Given the description of an element on the screen output the (x, y) to click on. 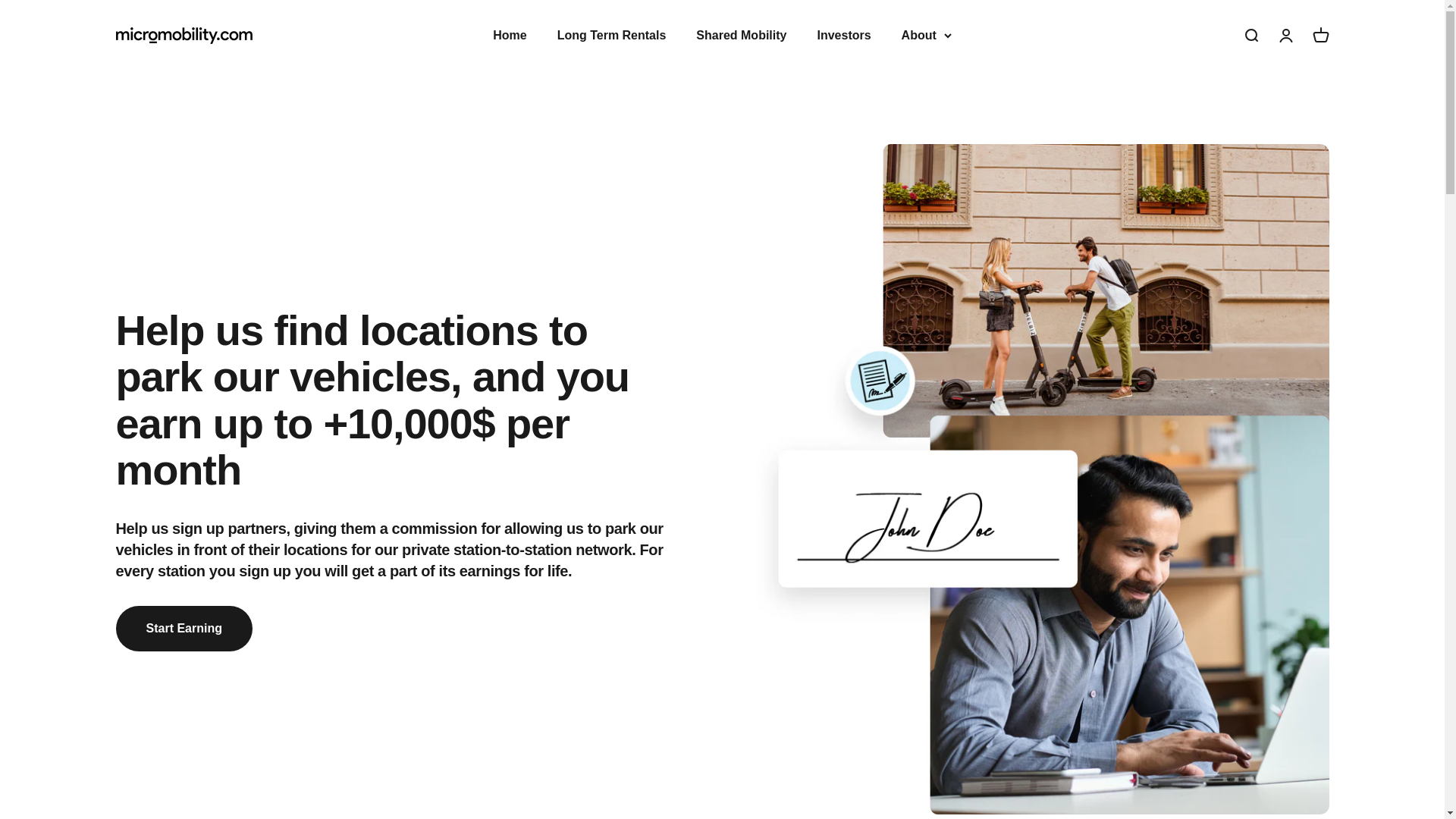
Long Term Rentals (611, 34)
Investors (843, 34)
Home (509, 34)
micromobility.com (183, 35)
Shared Mobility (740, 34)
Start Earning (1319, 35)
Open account page (183, 628)
Open search (1285, 35)
